Given the description of an element on the screen output the (x, y) to click on. 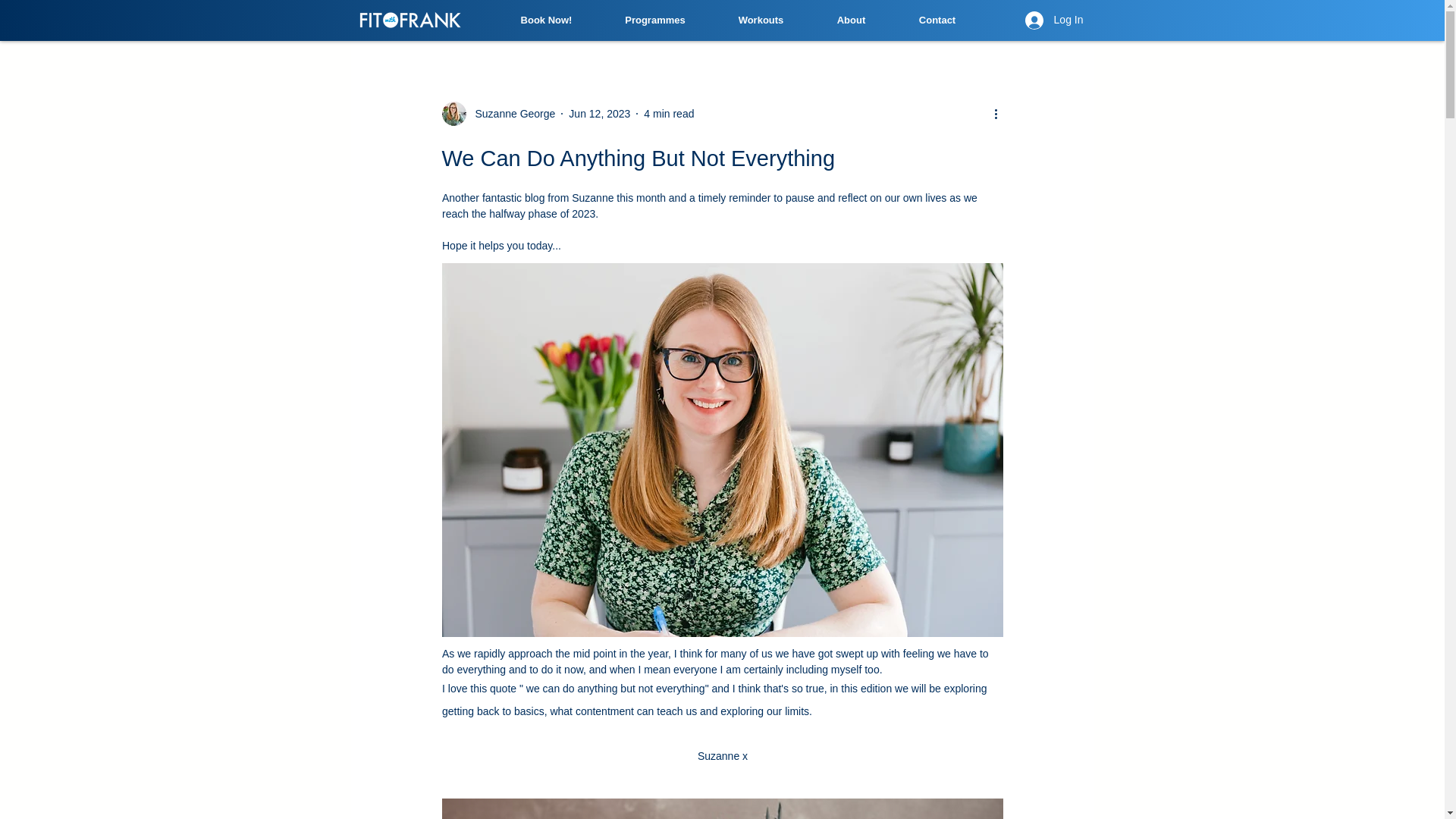
Jun 12, 2023 (599, 113)
Book Now! (546, 19)
Programmes (654, 19)
Suzanne George (509, 114)
4 min read (668, 113)
Contact (936, 19)
Suzanne George (497, 113)
Workouts (760, 19)
About (850, 19)
Log In (1054, 20)
